Given the description of an element on the screen output the (x, y) to click on. 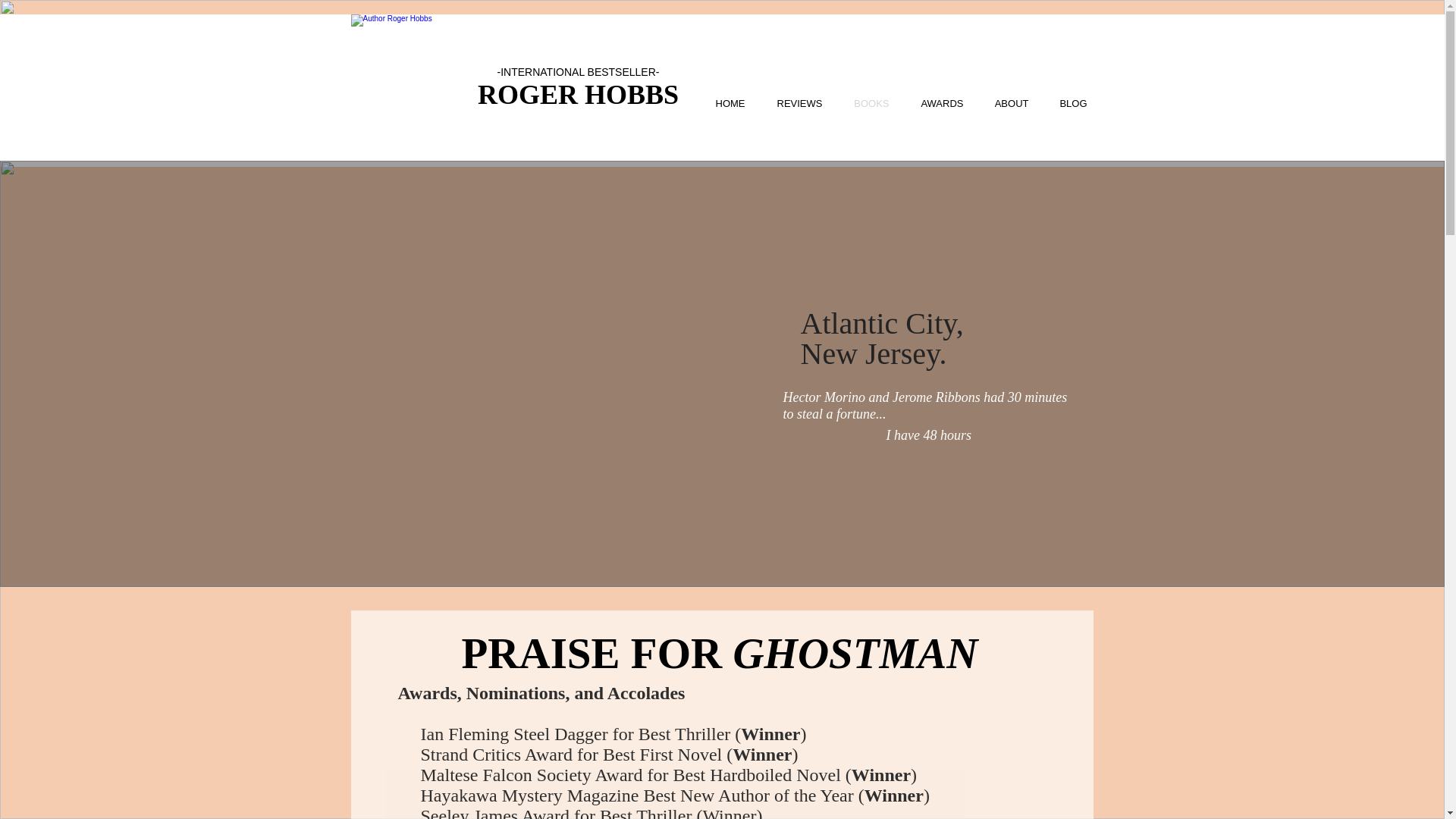
AWARDS (935, 103)
Roger Hobbs (407, 73)
HOME (721, 103)
ABOUT (1004, 103)
BLOG (1066, 103)
REVIEWS (792, 103)
BOOKS (864, 103)
